Given the description of an element on the screen output the (x, y) to click on. 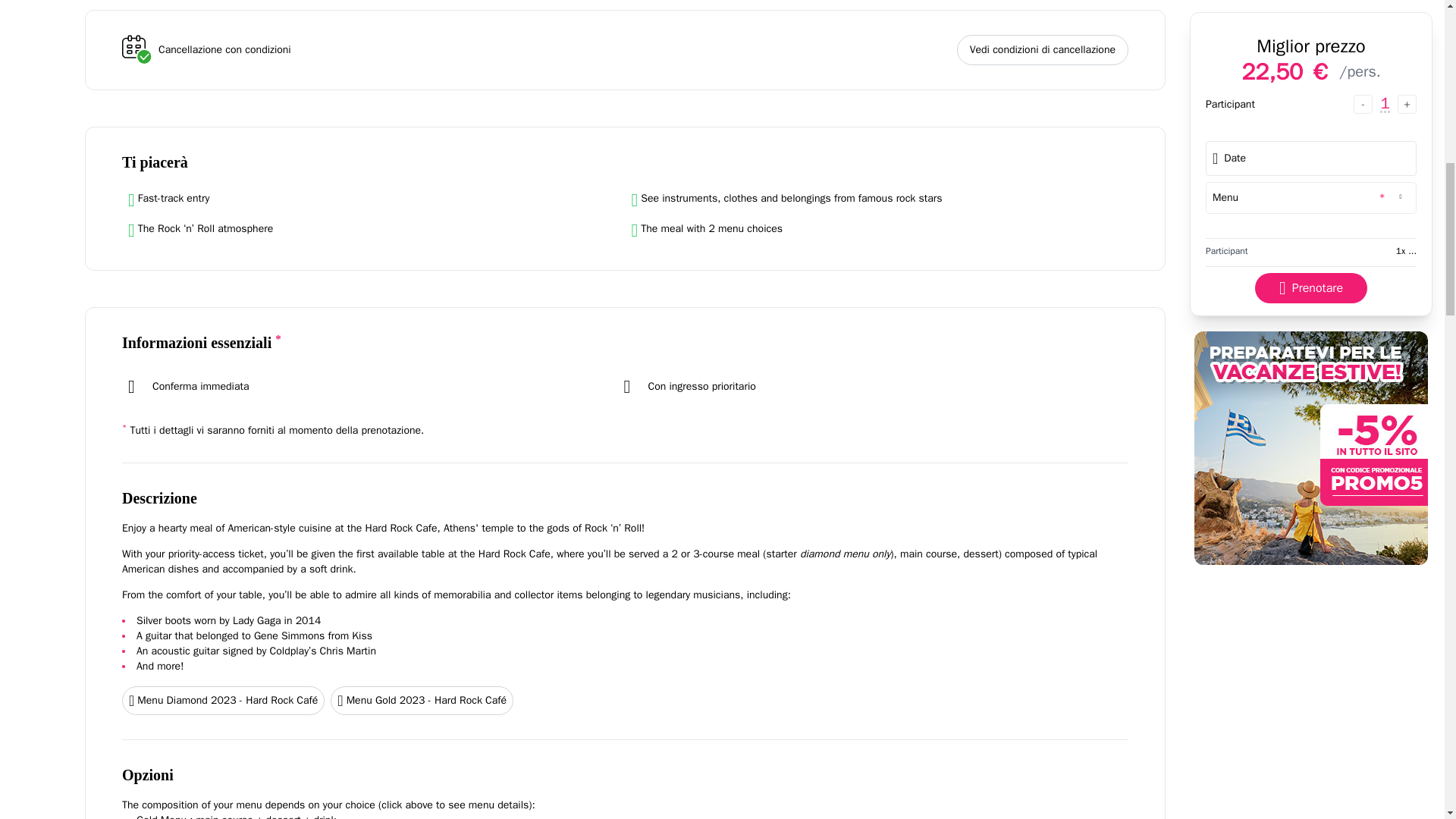
Vedi condizioni di cancellazione (1042, 50)
Prenotare (1311, 7)
